Given the description of an element on the screen output the (x, y) to click on. 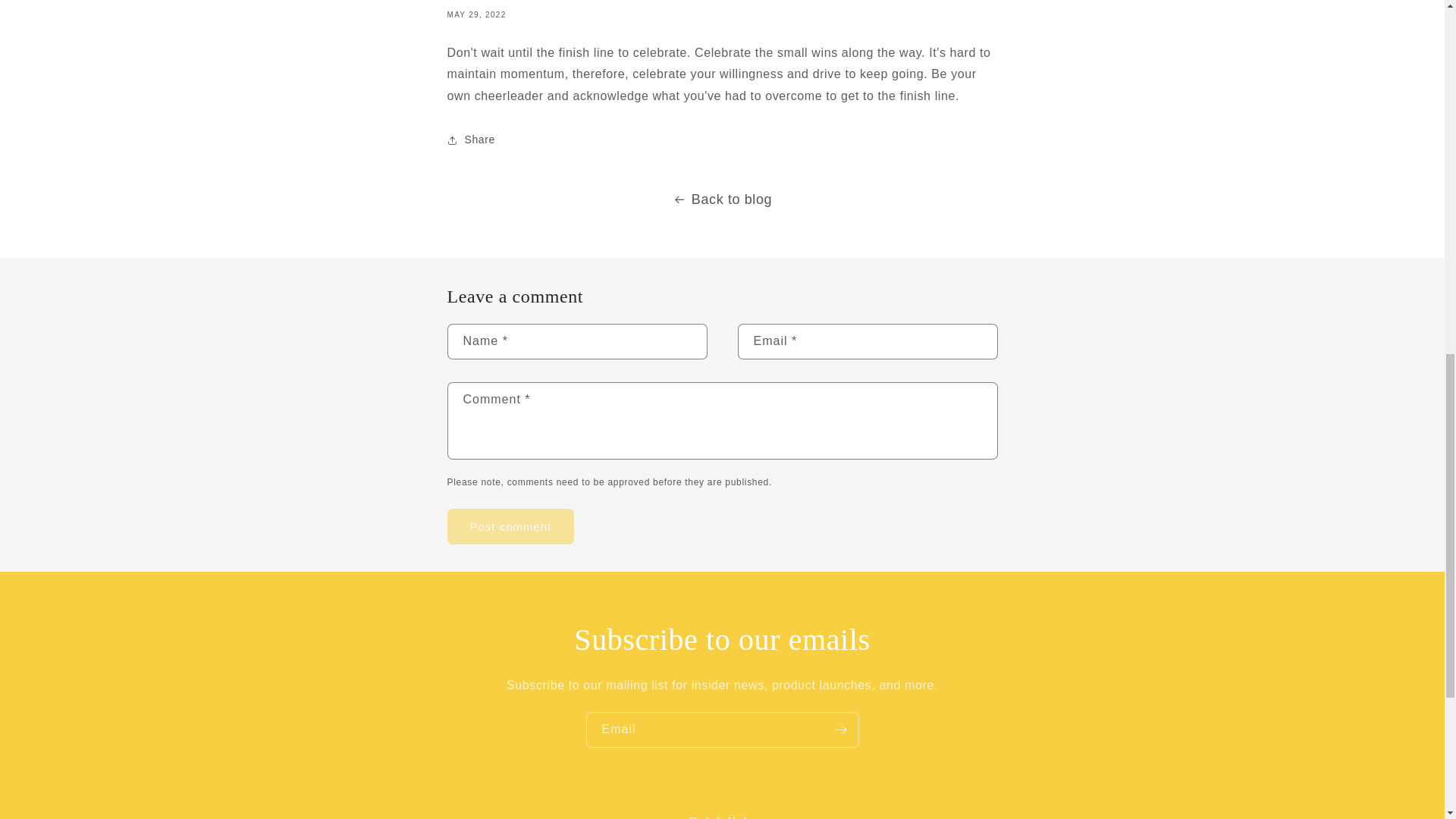
Post comment (510, 526)
Post comment (510, 526)
